Given the description of an element on the screen output the (x, y) to click on. 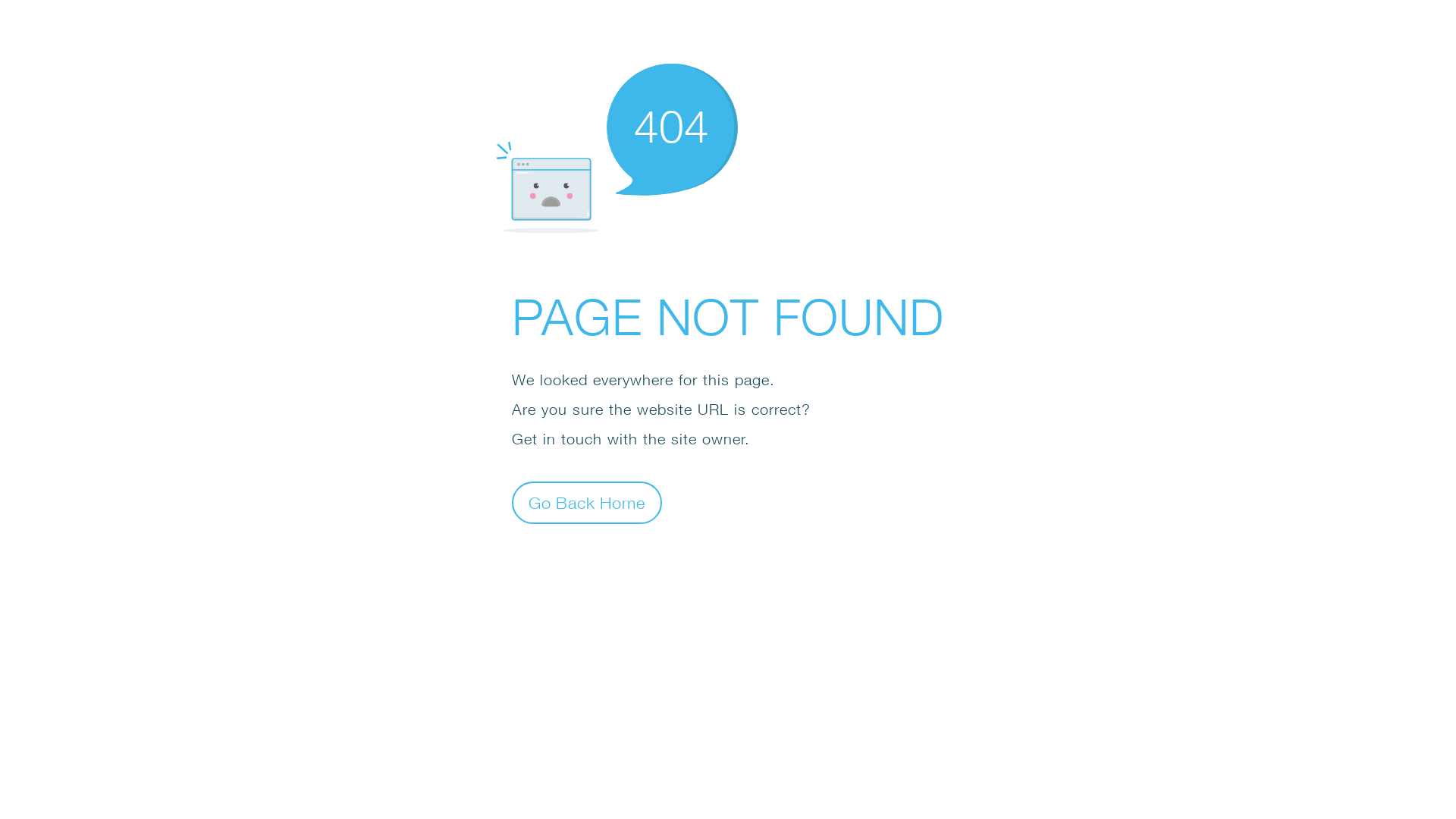
Go Back Home Element type: text (586, 502)
